Given the description of an element on the screen output the (x, y) to click on. 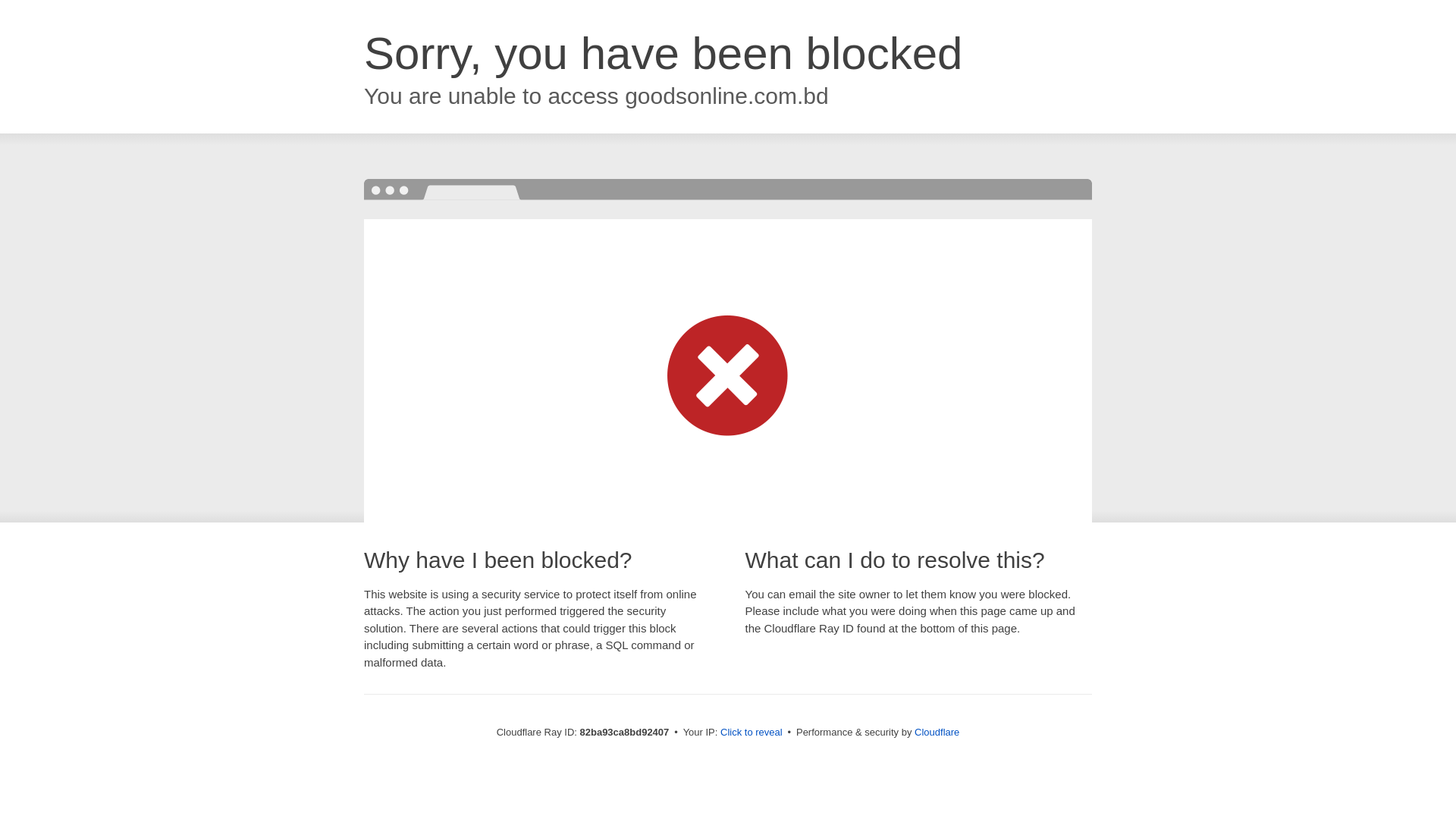
Click to reveal Element type: text (751, 732)
Cloudflare Element type: text (936, 731)
